Given the description of an element on the screen output the (x, y) to click on. 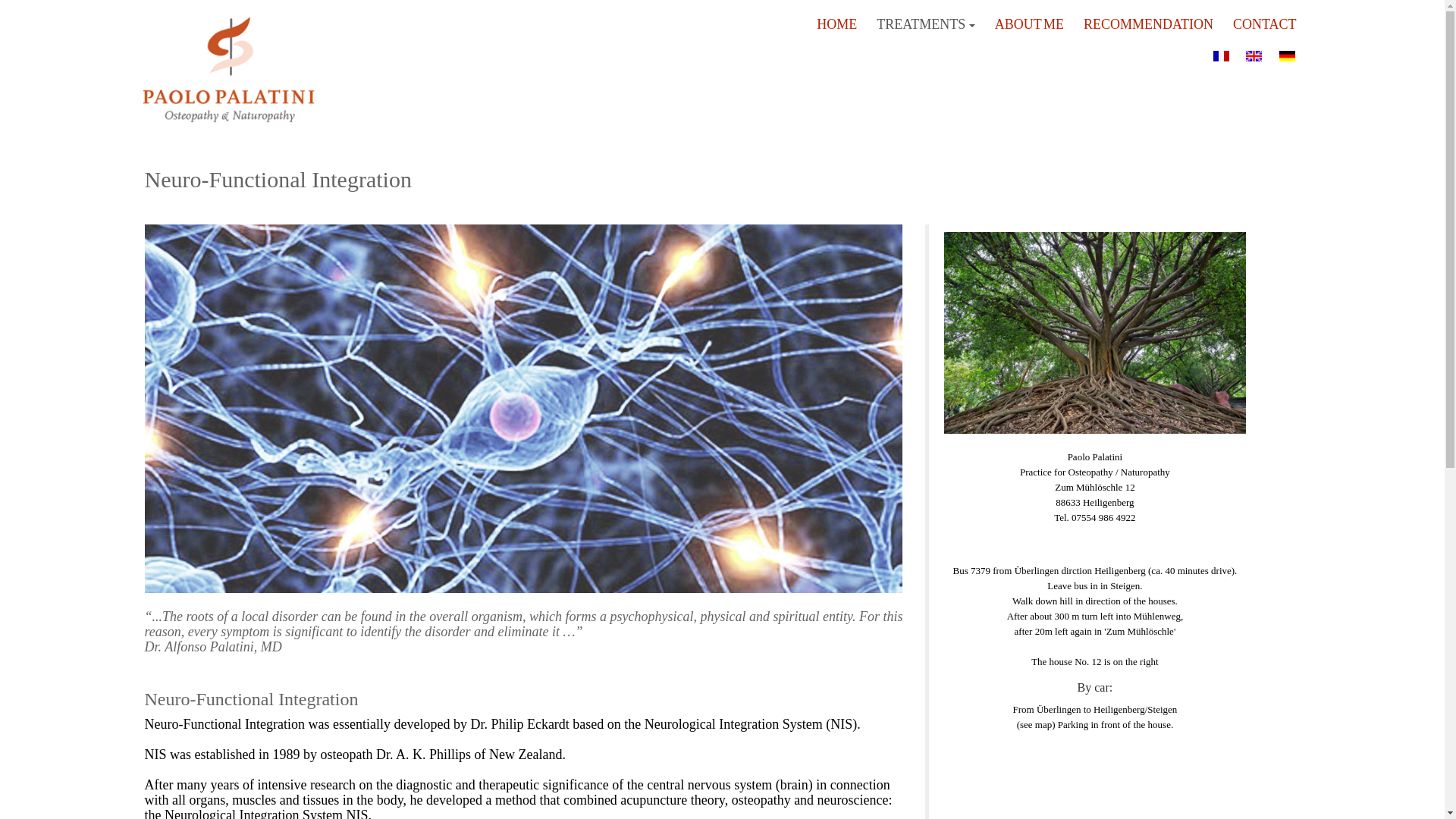
ABOUT ME (1029, 22)
TREATMENTS (925, 22)
CONTACT (1265, 22)
RECOMMENDATION (1148, 22)
